Given the description of an element on the screen output the (x, y) to click on. 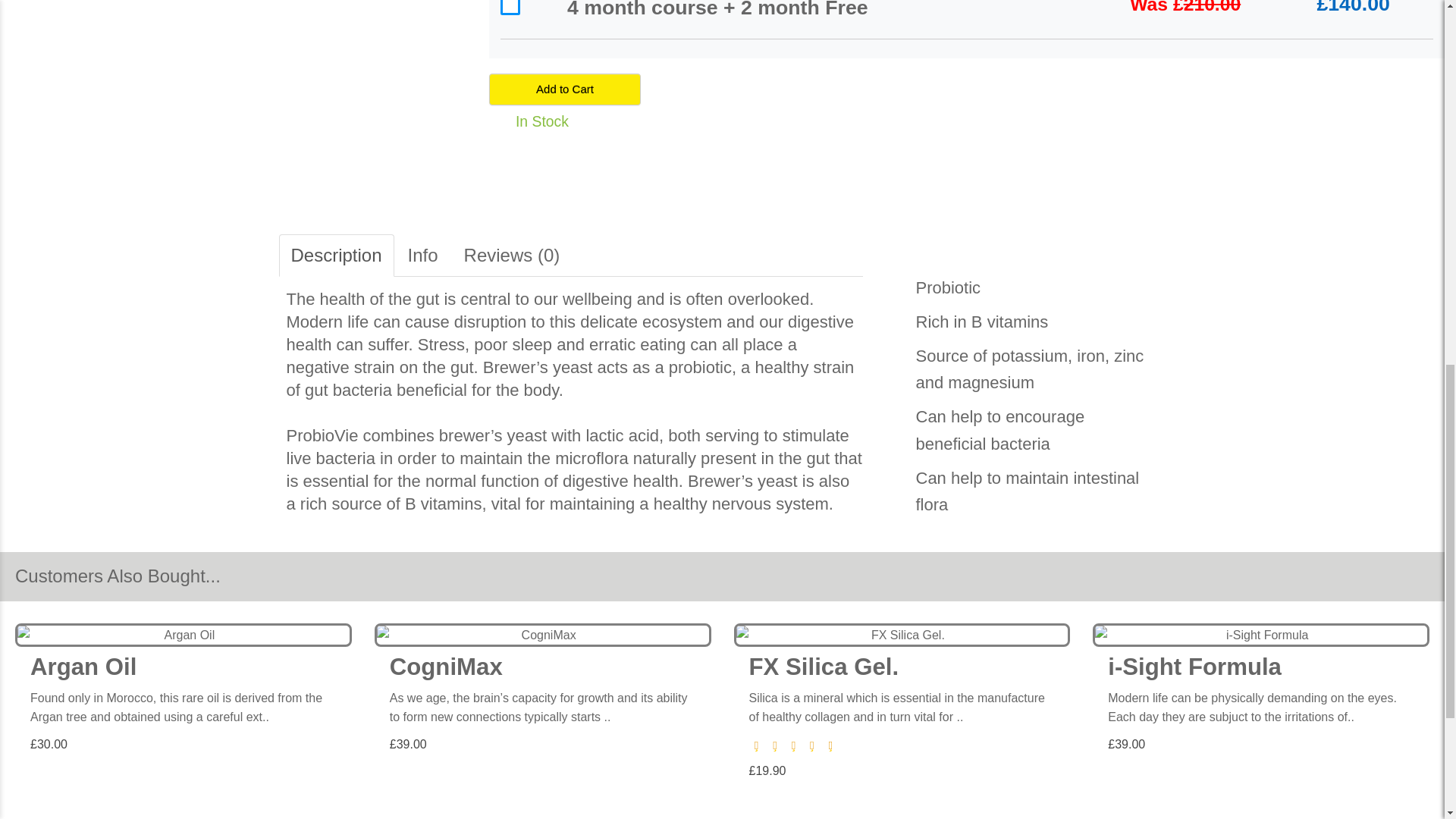
CogniMax (542, 635)
178 (509, 7)
Argan Oil (183, 635)
FX Silica Gel.  (901, 635)
i-Sight Formula (1261, 635)
